Given the description of an element on the screen output the (x, y) to click on. 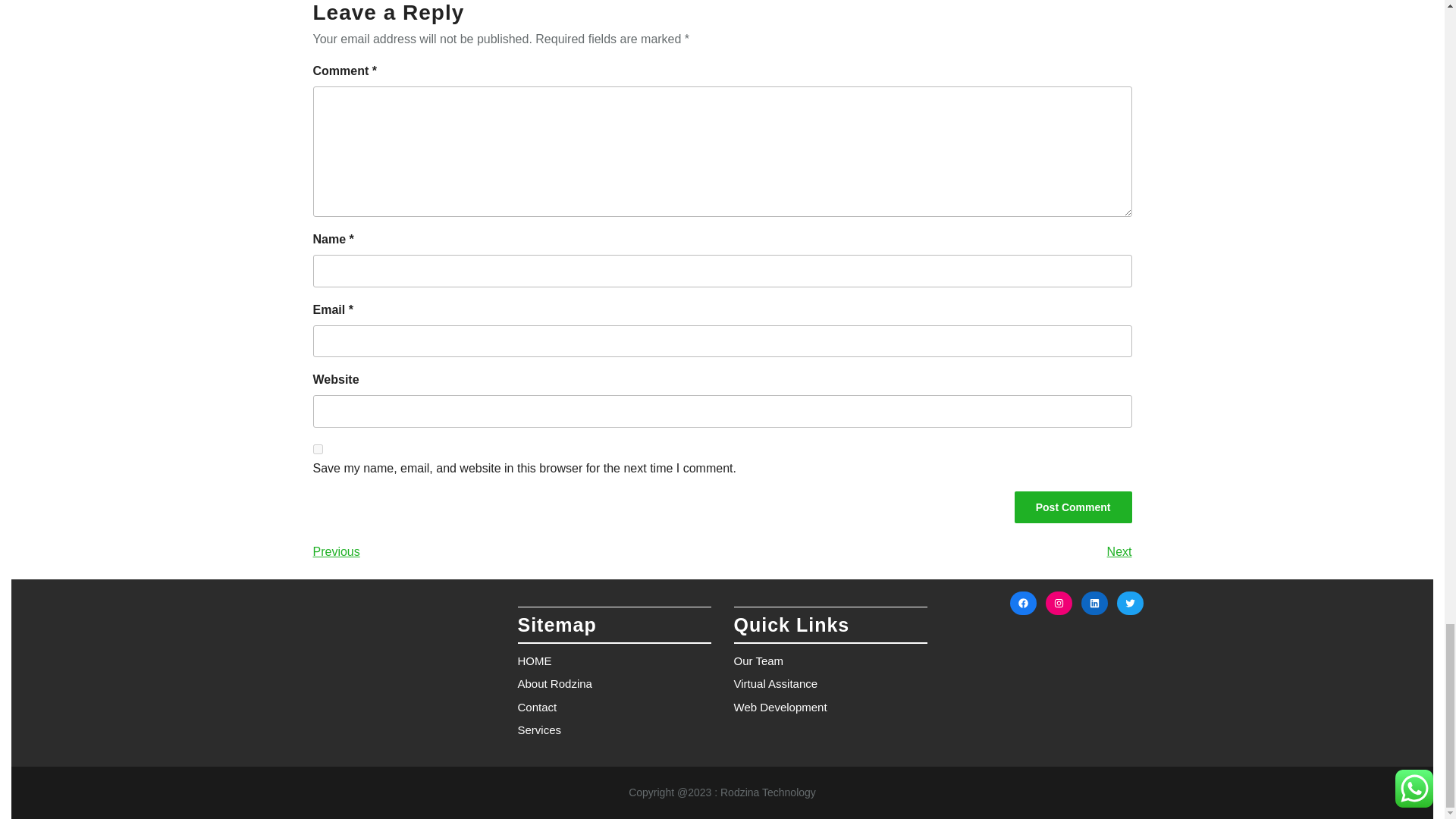
Post Comment (1073, 507)
Our Team (758, 660)
Virtual Assitance (775, 683)
Twitter (1129, 602)
yes (317, 449)
LinkedIn (1094, 602)
Instagram (1058, 602)
Contact (536, 707)
Facebook (1023, 602)
